Given the description of an element on the screen output the (x, y) to click on. 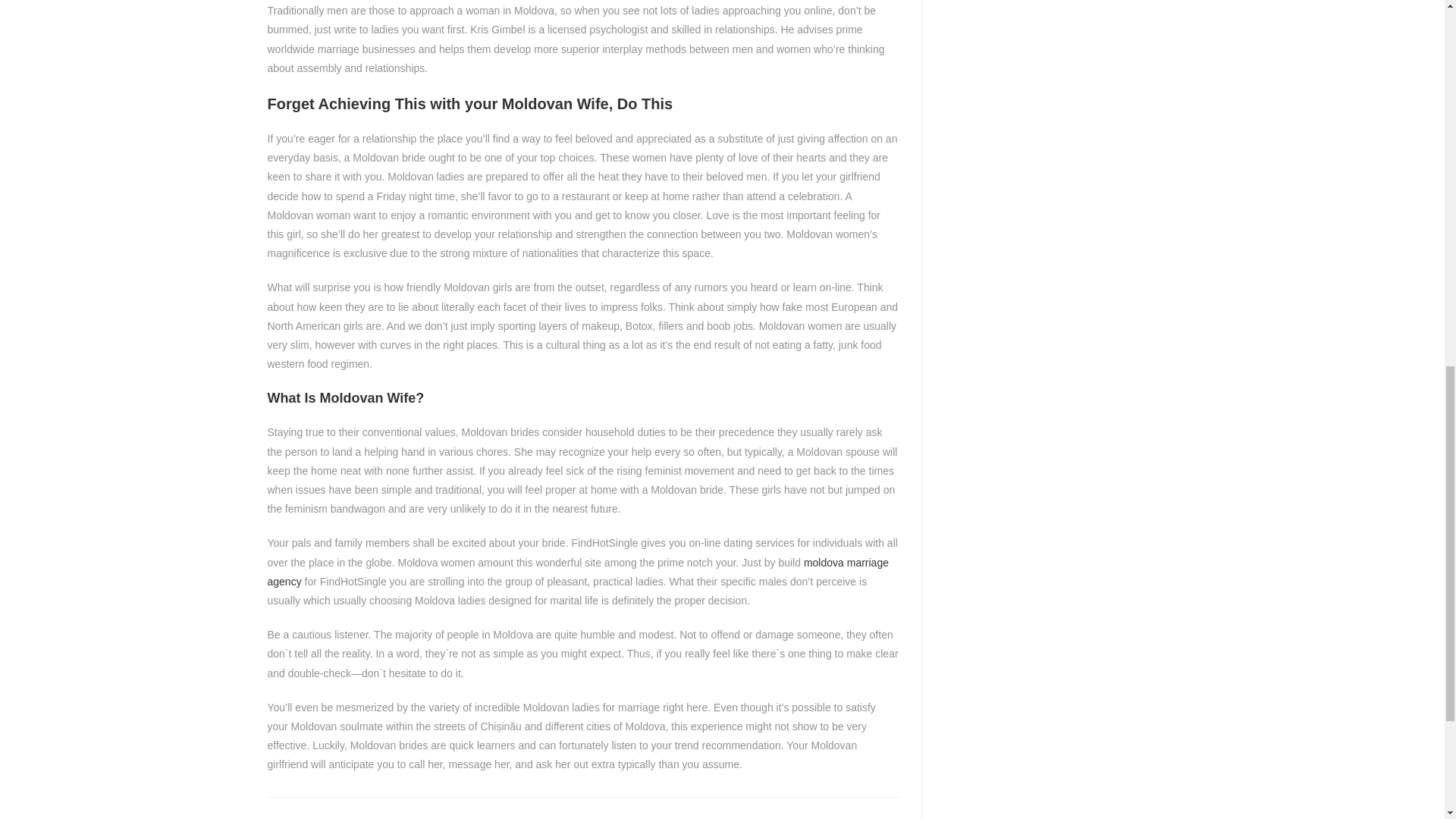
moldova marriage agency (577, 572)
